Given the description of an element on the screen output the (x, y) to click on. 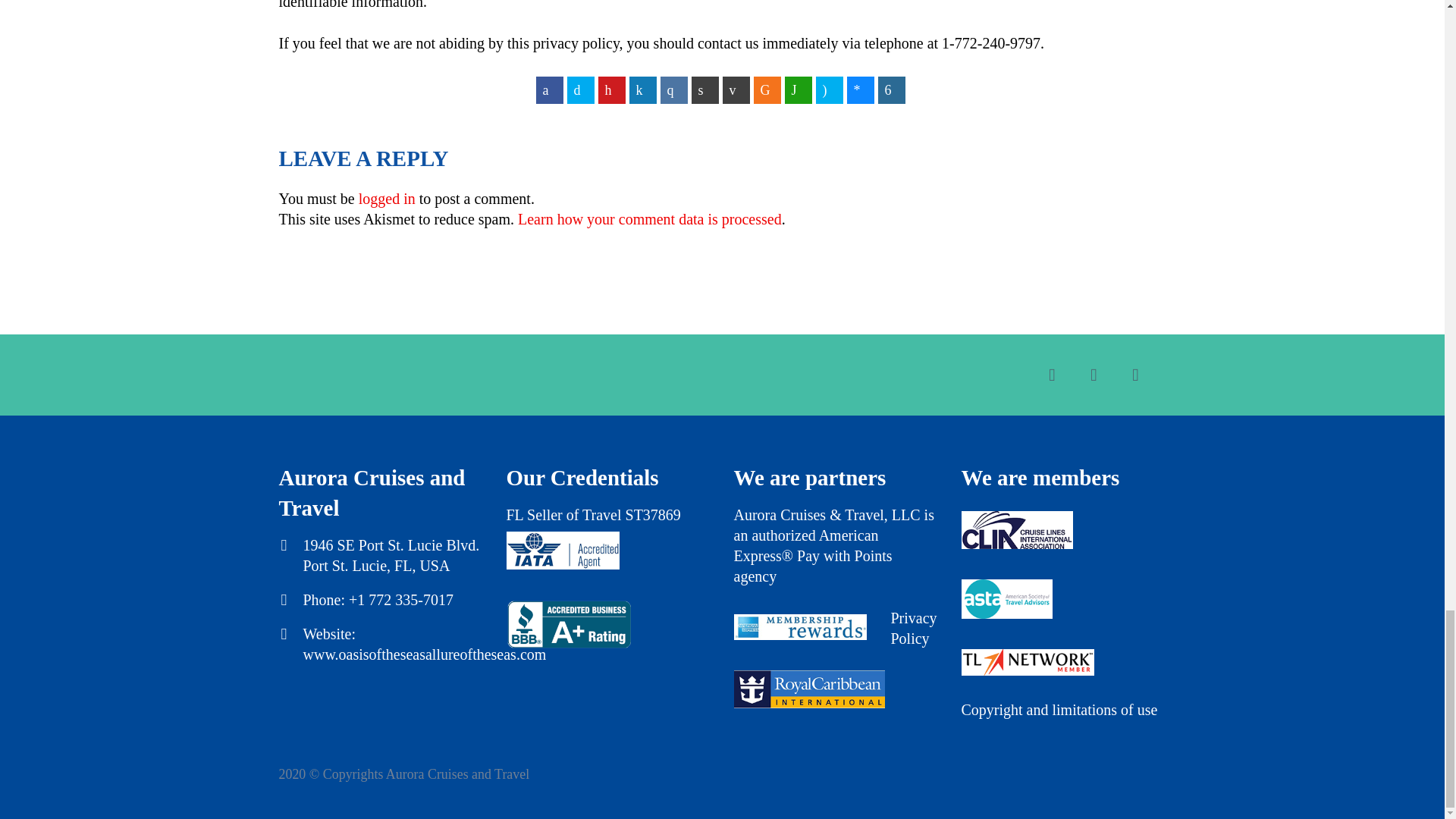
Share on VKontakte (673, 90)
twitter (1051, 374)
Share on Print (705, 90)
Share on Facebook (548, 90)
Share on Odnoklassniki (767, 90)
Share on LinkedIn (642, 90)
Share on Skype (829, 90)
Share on Twitter (580, 90)
Share on WhatsApp (797, 90)
Share on Email (735, 90)
Share on Pinterest (610, 90)
Share on Facebook Messenger (859, 90)
Share on Share (891, 90)
